Given the description of an element on the screen output the (x, y) to click on. 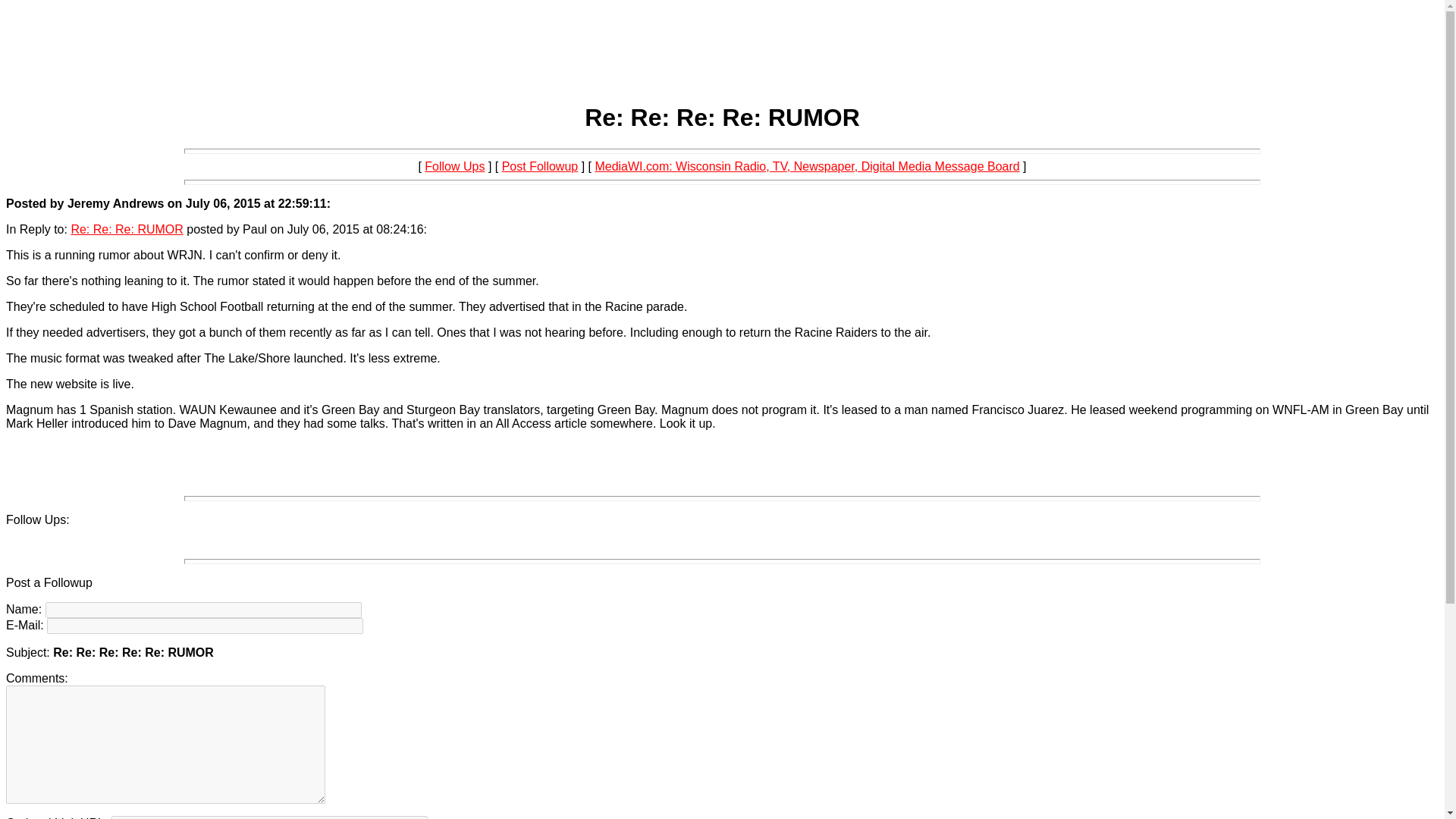
Follow Ups (454, 165)
Post Followup (540, 165)
Follow Ups: (37, 519)
Advertisement (721, 39)
Post a Followup (49, 582)
Re: Re: Re: RUMOR (126, 228)
